Given the description of an element on the screen output the (x, y) to click on. 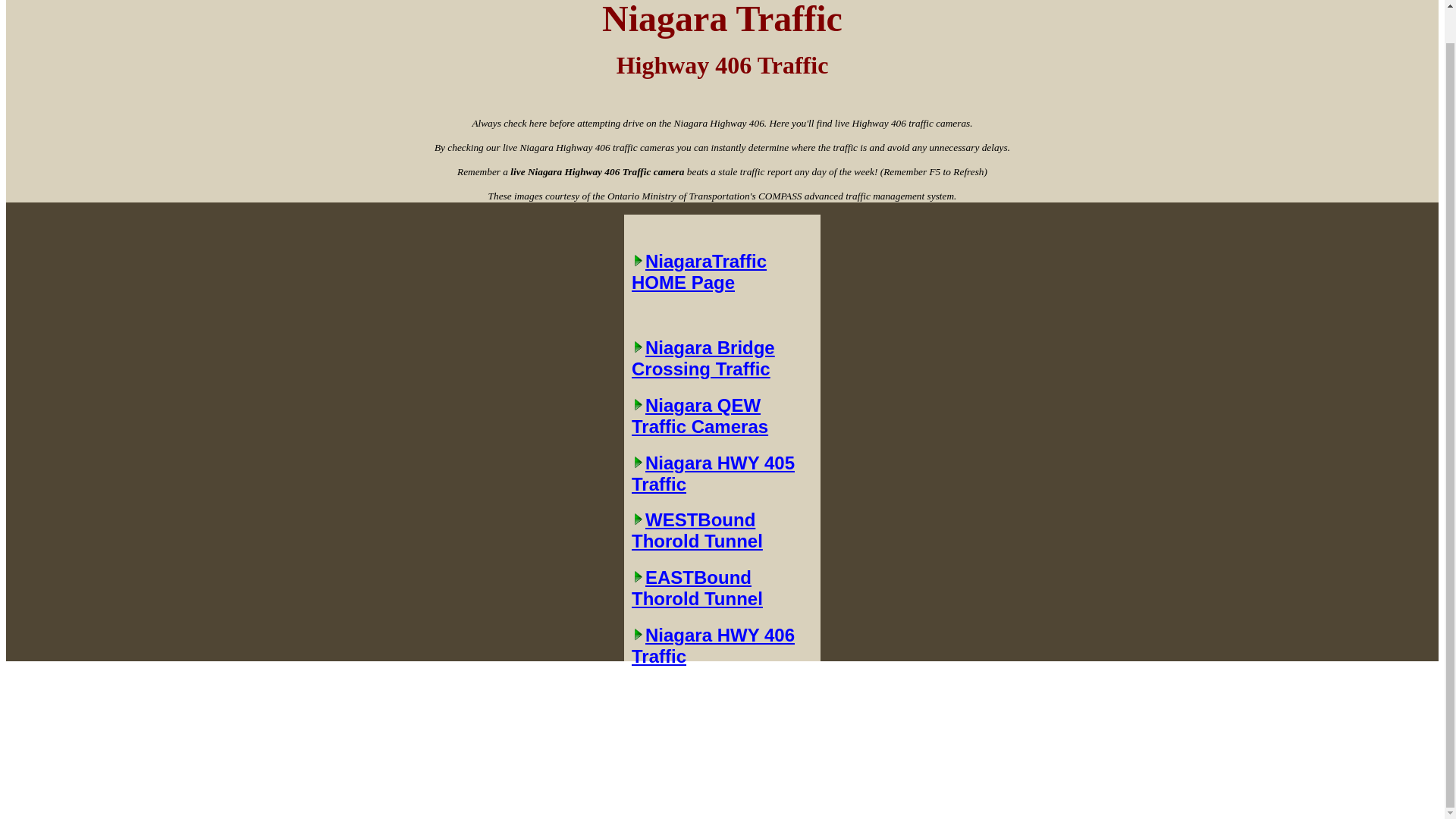
NiagaraTraffic HOME Page (721, 285)
NiagaraTraffic Home Page (721, 285)
WESTBound Thorold Tunnel (721, 530)
Niagara Traffic Cameras Bridge Traffic (721, 358)
EASTBound Thorold Tunnel (721, 588)
Live Niagara WESTBound Thorold Tunnel (721, 530)
Live Niagara HWY 405 Traffic (721, 473)
Niagara Bridge Crossing Traffic (721, 358)
Live Niagara EASTBound Thorold Tunnel (721, 588)
Niagara HWY 405 Traffic (721, 473)
Live Niagara QEW Traffic (721, 415)
Niagara QEW Traffic Cameras (721, 415)
